Given the description of an element on the screen output the (x, y) to click on. 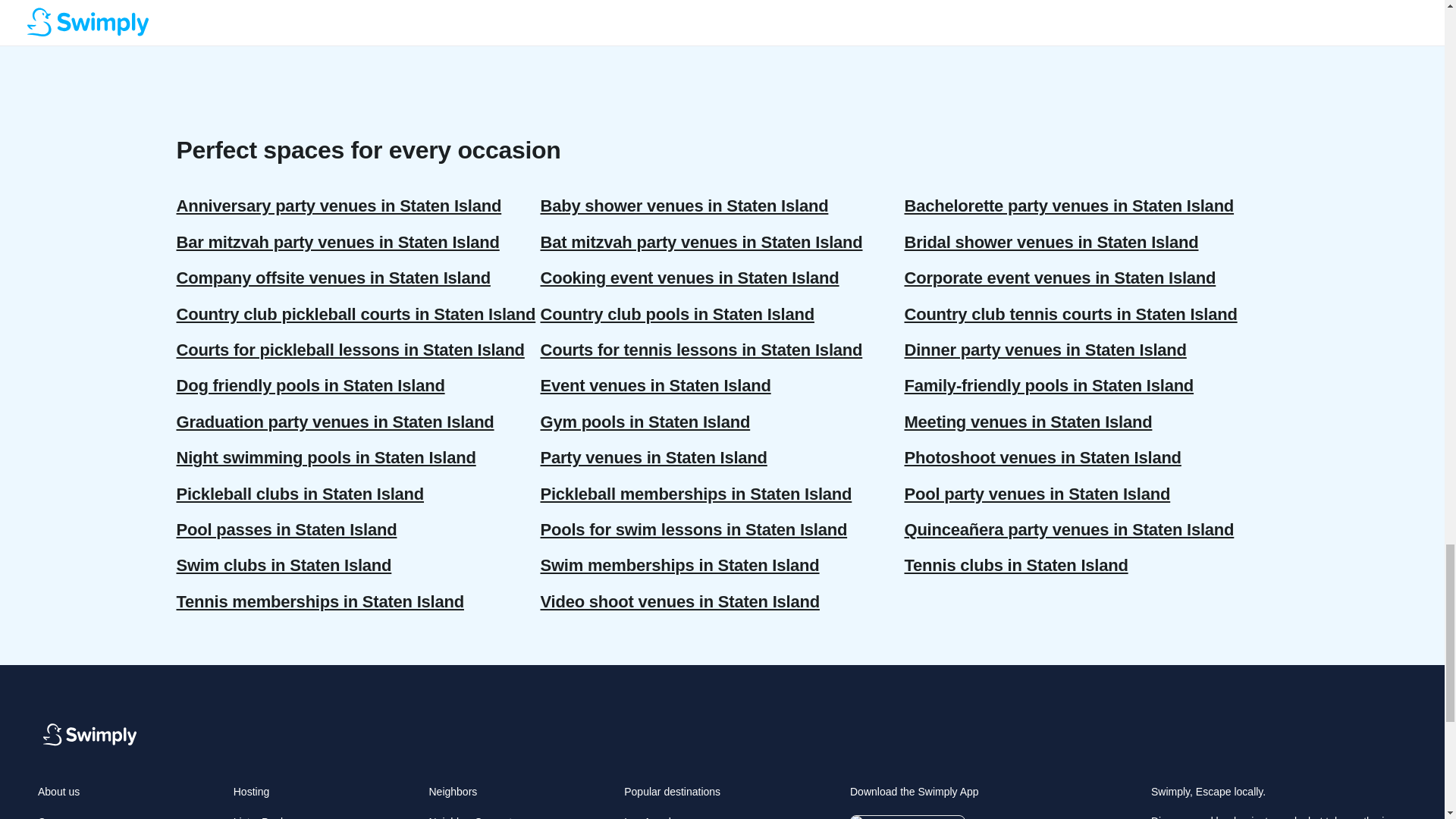
Los Angeles (652, 817)
Neighbor Support (470, 817)
Anniversary party venues in Staten Island (358, 205)
Baby shower venues in Staten Island (722, 205)
Company offsite venues in Staten Island (358, 277)
Bachelorette party venues in Staten Island (1086, 205)
Bridal shower venues in Staten Island (1086, 242)
Cold plunge pools in Staten Island (358, 2)
Public pools in Staten Island (358, 22)
List a Pool (257, 817)
Corporate event venues in Staten Island (1086, 277)
Bat mitzvah party venues in Staten Island (722, 242)
Bar mitzvah party venues in Staten Island (358, 242)
Cooking event venues in Staten Island (722, 277)
Careers (56, 817)
